Given the description of an element on the screen output the (x, y) to click on. 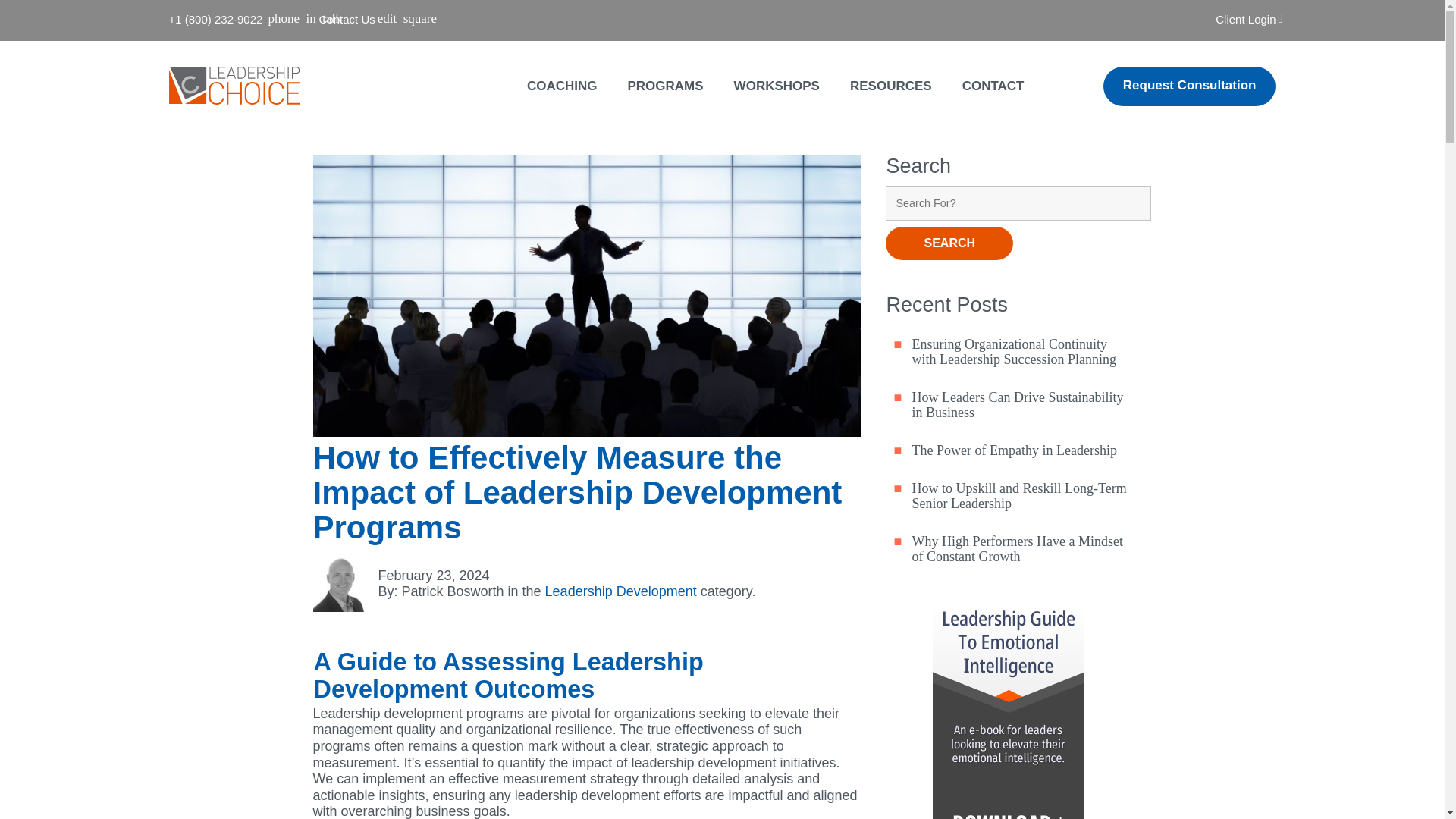
Request Consultation (1189, 86)
RESOURCES (890, 85)
SEARCH (949, 243)
SEARCH (949, 243)
WORKSHOPS (776, 85)
COACHING (561, 85)
CONTACT (993, 85)
PROGRAMS (665, 85)
